Given the description of an element on the screen output the (x, y) to click on. 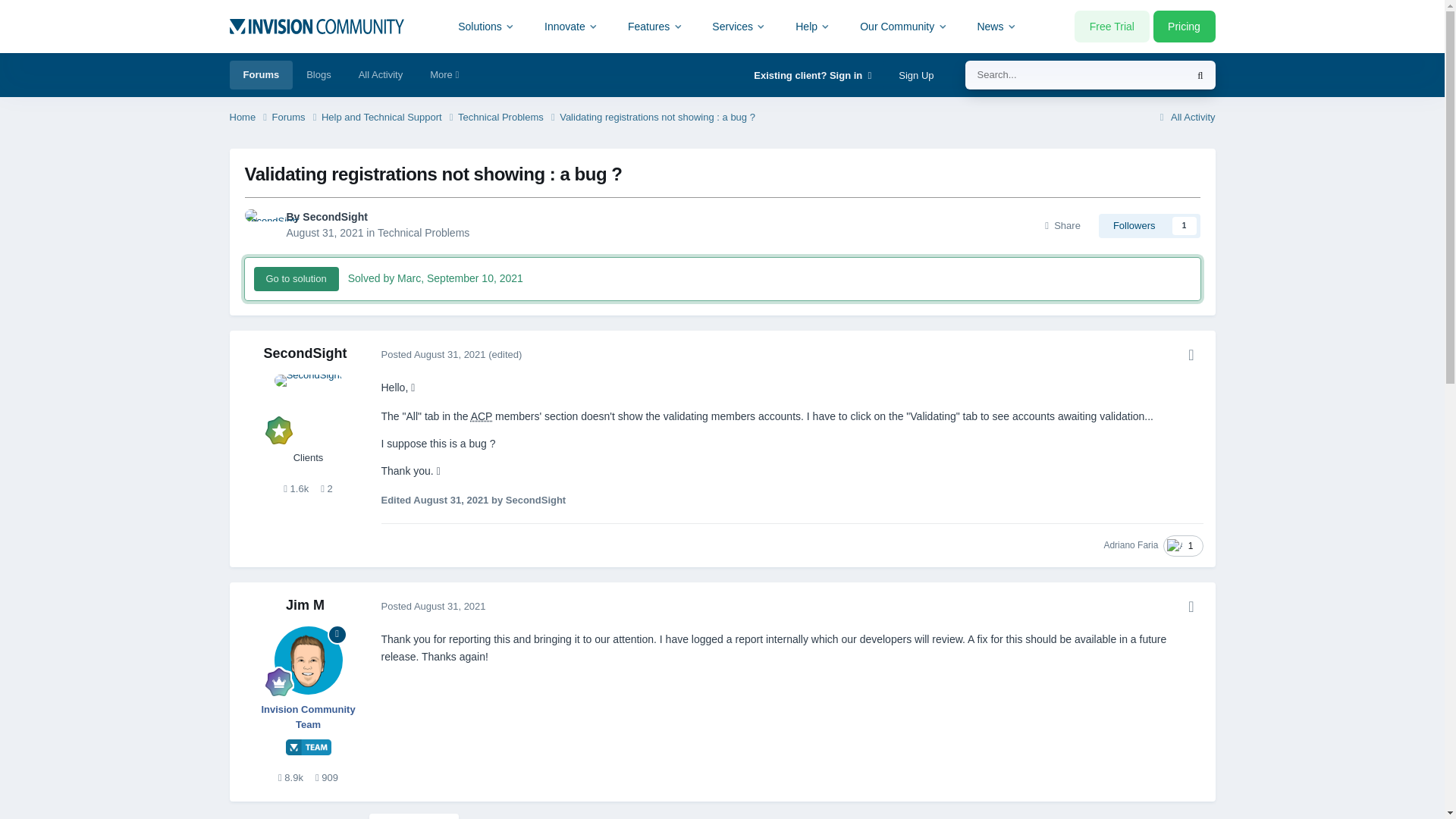
Innovate (570, 26)
Solutions (486, 26)
Home (249, 117)
Services (738, 26)
Help (812, 26)
Features (654, 26)
